Given the description of an element on the screen output the (x, y) to click on. 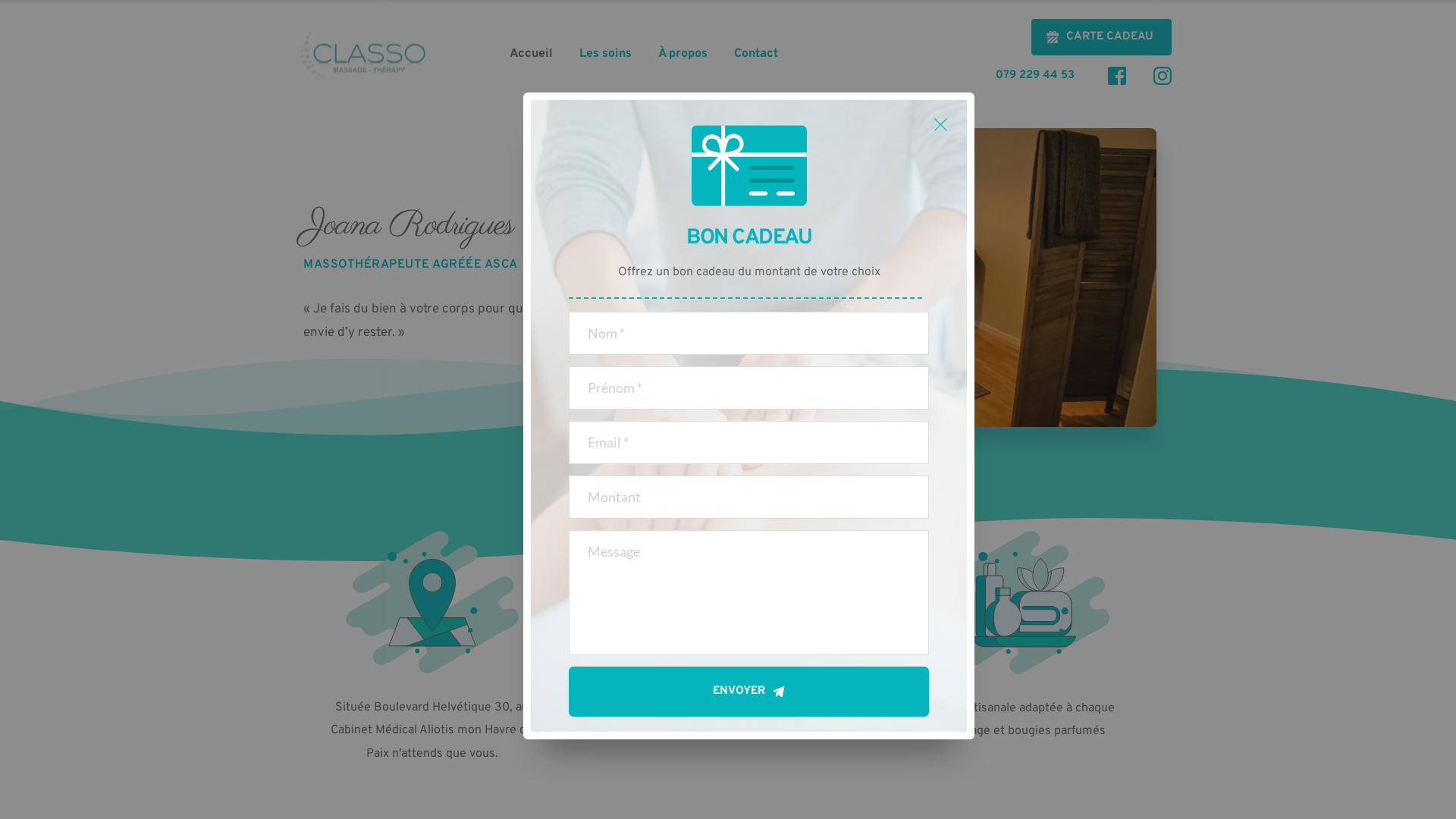
Contact Element type: text (755, 53)
079 229 44 53   Element type: text (1037, 75)
Les soins Element type: text (605, 53)
Accueil Element type: text (530, 53)
ENVOYER Element type: text (748, 691)
CARTE CADEAU  Element type: text (1101, 36)
